Given the description of an element on the screen output the (x, y) to click on. 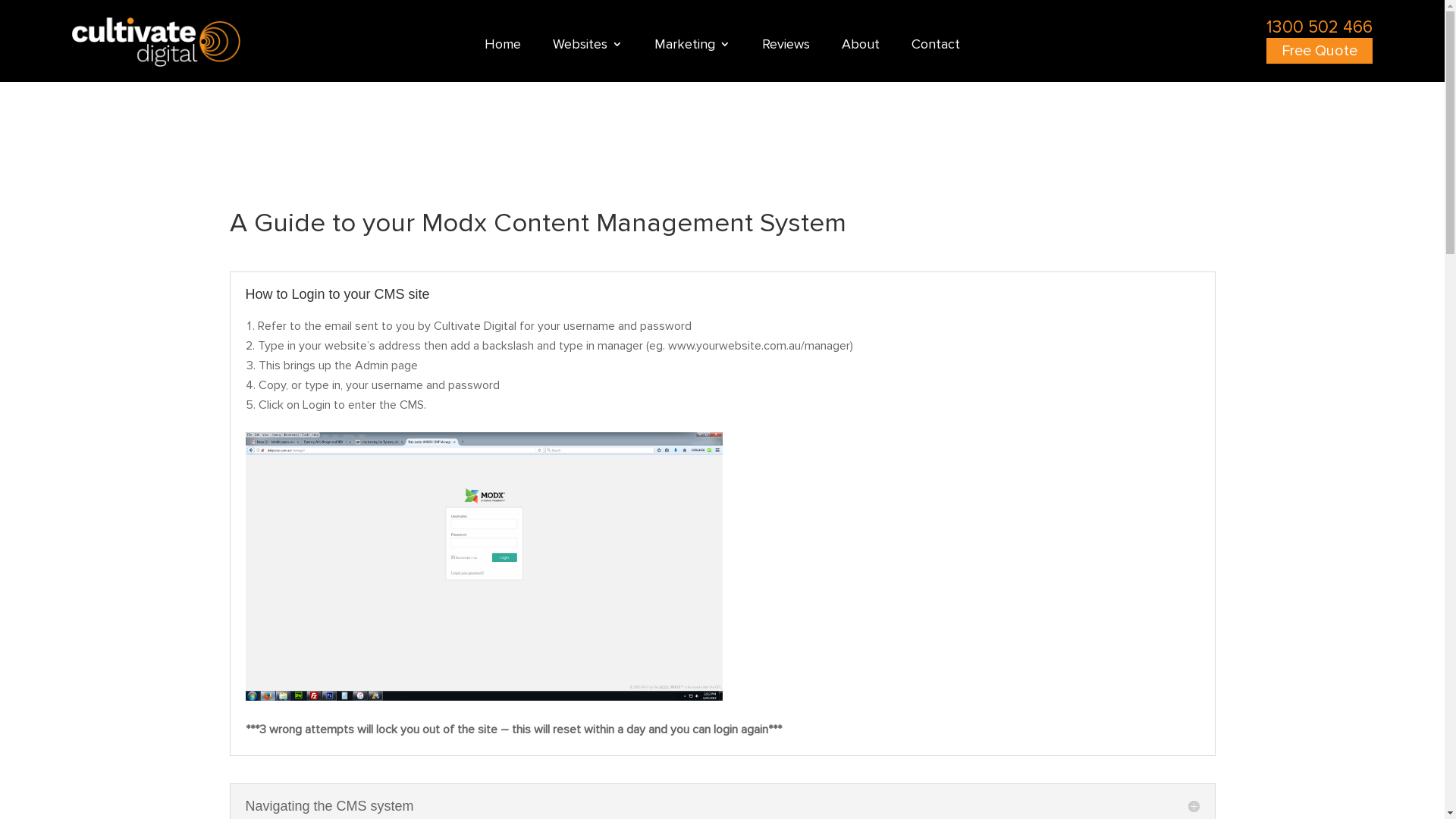
Marketing Element type: text (692, 46)
Reviews Element type: text (785, 46)
Cultivate Digital Element type: hover (156, 41)
Home Element type: text (502, 46)
Contact Element type: text (935, 46)
About Element type: text (860, 46)
Free Quote Element type: text (1319, 50)
Websites Element type: text (587, 46)
1300 502 466 Element type: text (1319, 26)
